Given the description of an element on the screen output the (x, y) to click on. 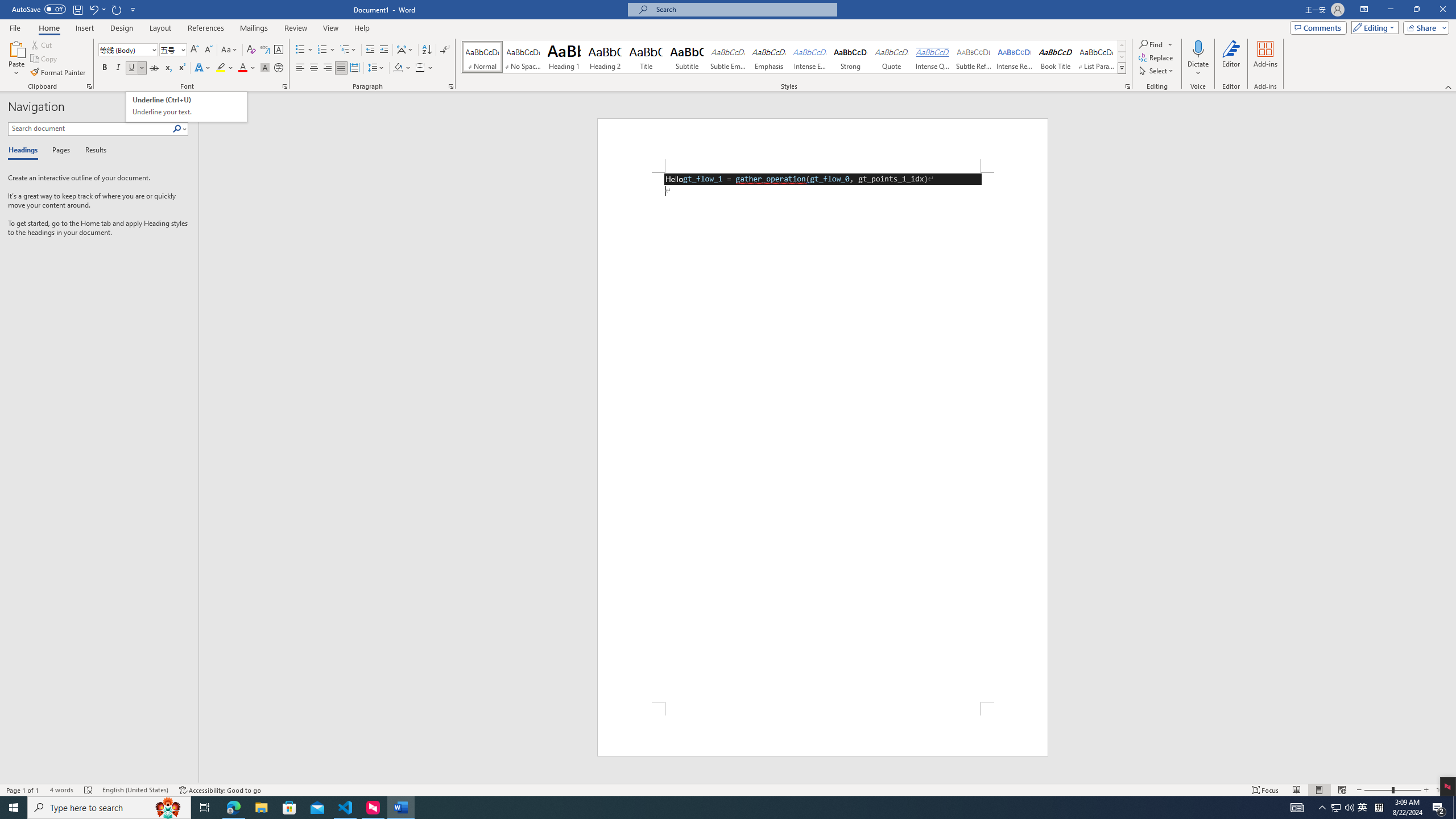
Zoom 100% (1443, 790)
Font Color Red (241, 67)
